Given the description of an element on the screen output the (x, y) to click on. 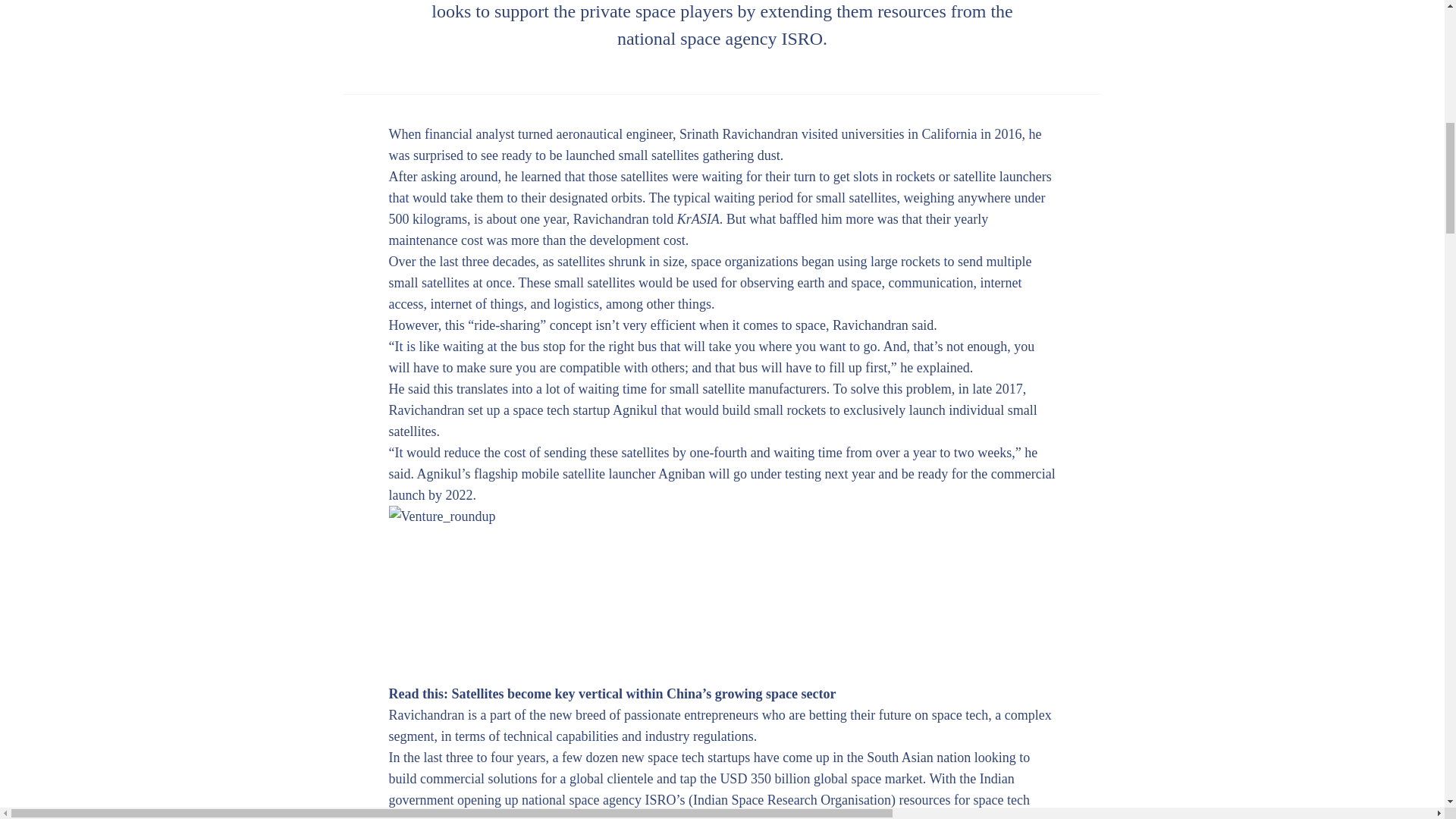
USD 350 billion (764, 778)
